Given the description of an element on the screen output the (x, y) to click on. 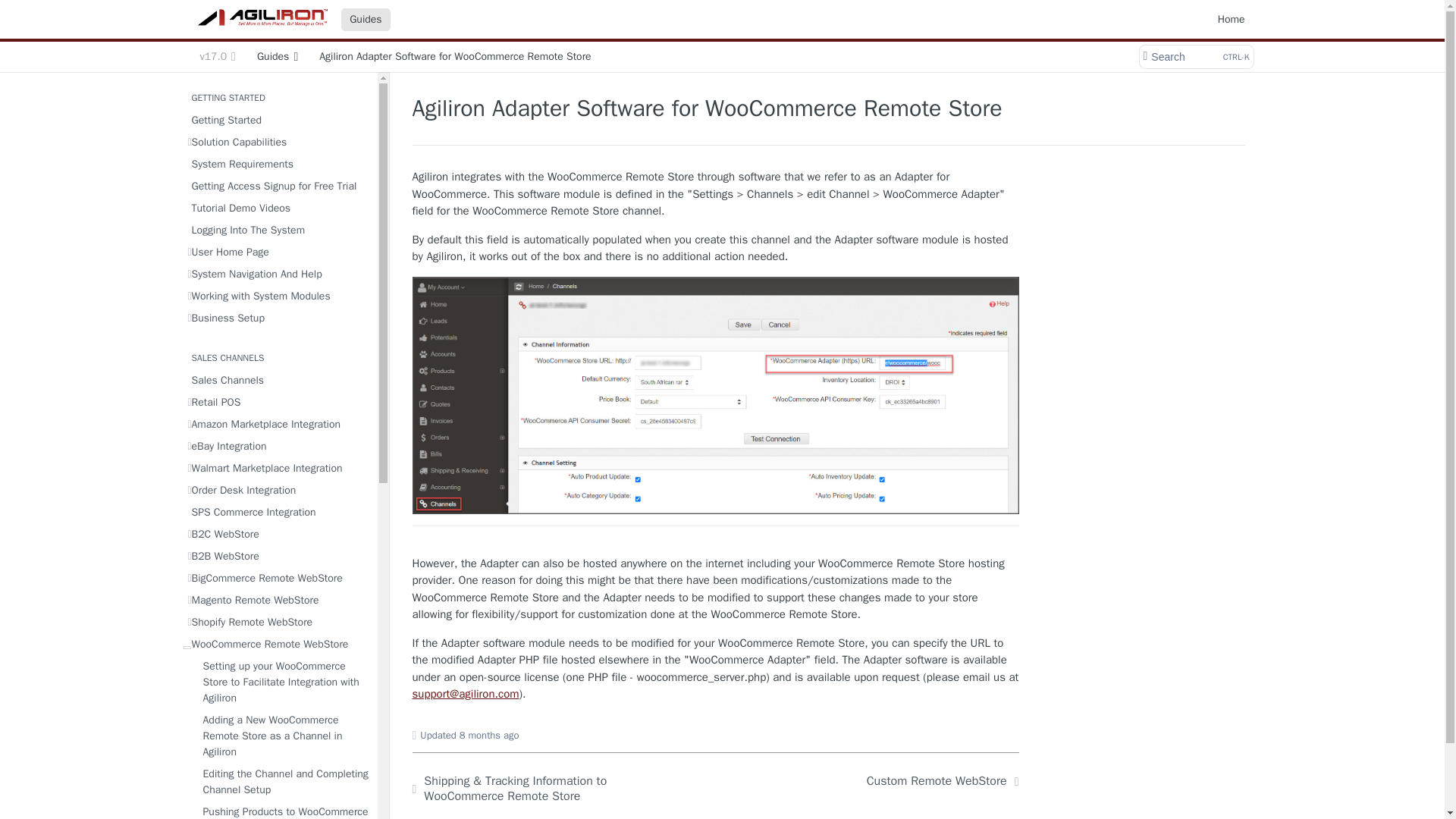
Solution Capabilities (277, 141)
User Home Page (277, 251)
System Requirements (1195, 56)
Guides (277, 163)
v17.0 (276, 56)
Getting Access Signup for Free Trial (216, 56)
Guides (277, 186)
Logging Into The System (365, 18)
Home (277, 230)
Tutorial Demo Videos (1231, 18)
Getting Started (277, 208)
